Given the description of an element on the screen output the (x, y) to click on. 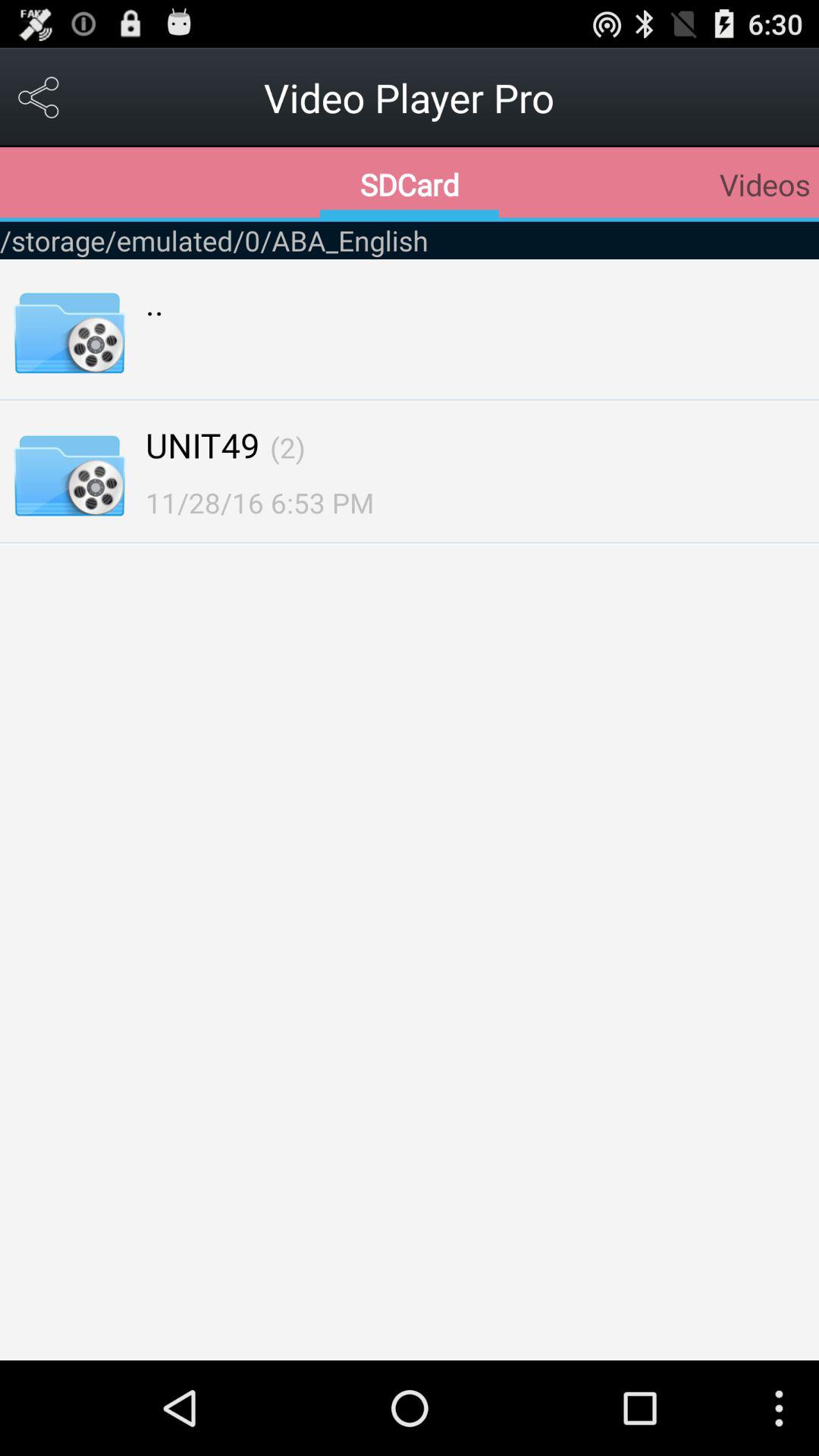
press app to the left of the video player pro app (39, 97)
